Given the description of an element on the screen output the (x, y) to click on. 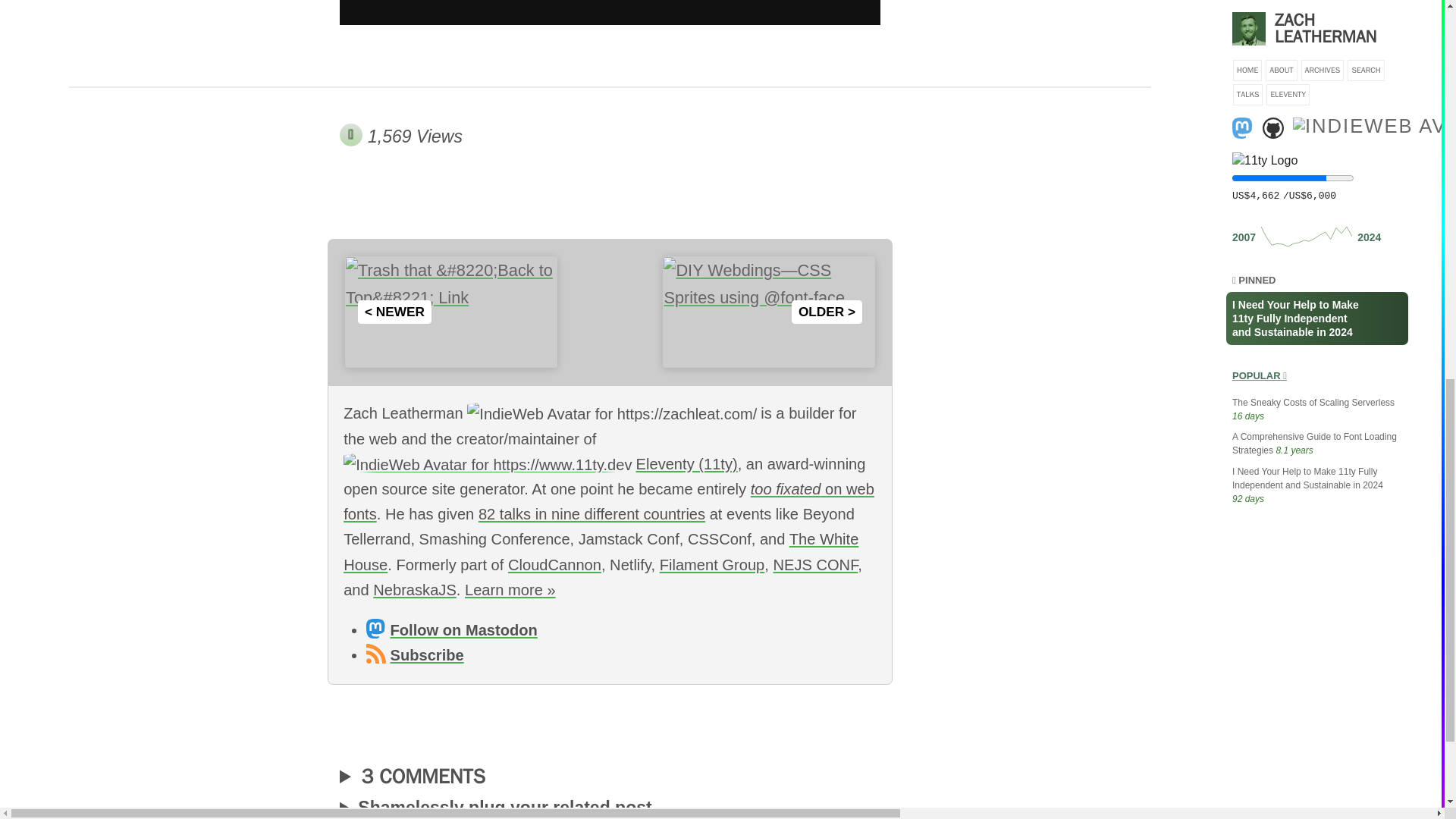
Subscribe (414, 655)
CloudCannon (554, 564)
Follow on Mastodon (451, 629)
too fixated on web fonts (609, 501)
NEJS CONF (815, 564)
82 talks in nine different countries (591, 514)
Screenshot of the 24 Clock on alarmd.com (609, 12)
Filament Group (712, 564)
The White House (601, 551)
NebraskaJS (414, 589)
